Given the description of an element on the screen output the (x, y) to click on. 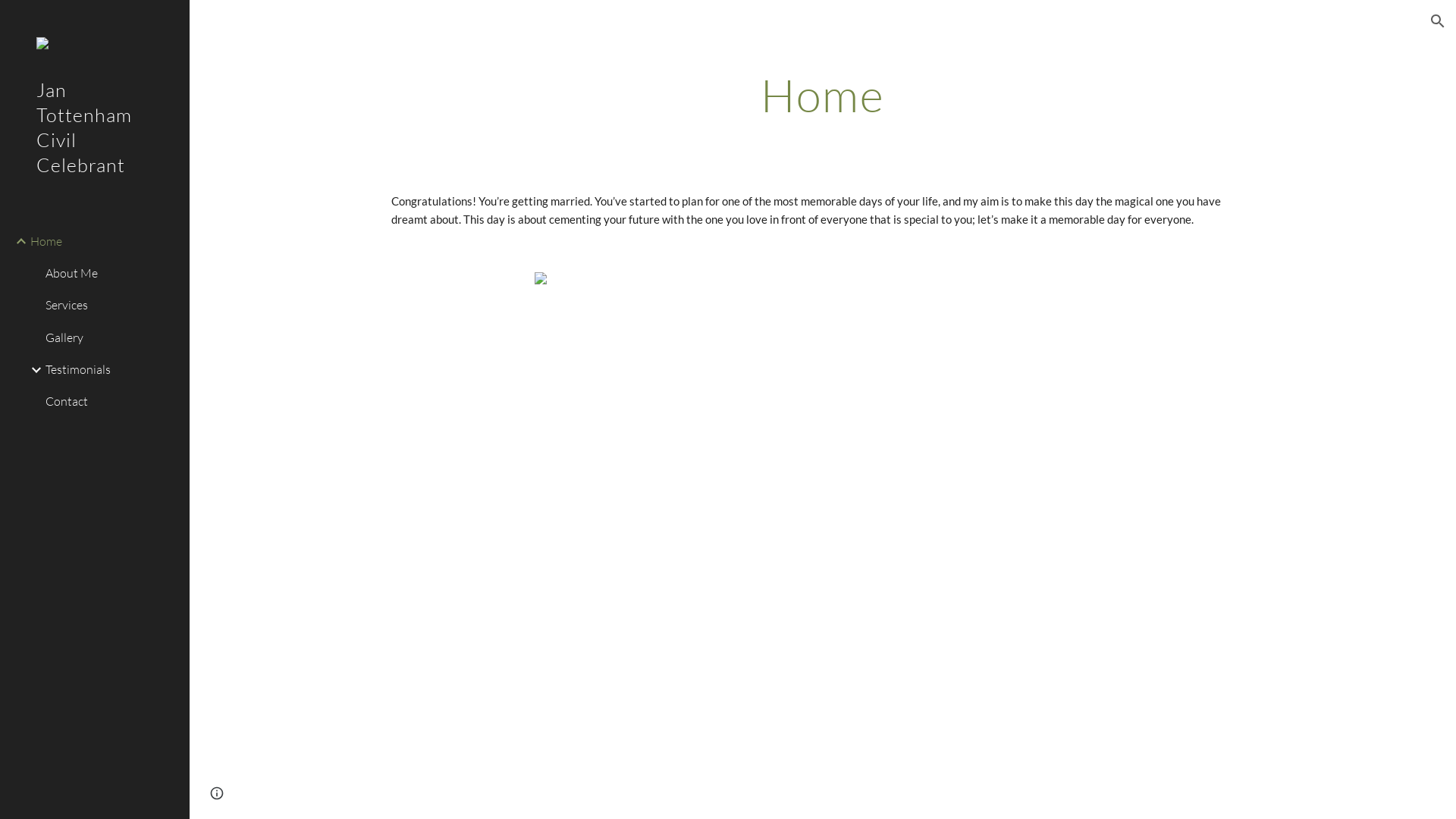
Contact Element type: text (111, 401)
Jan Tottenham Civil Celebrant Element type: text (94, 147)
About Me Element type: text (111, 273)
Home Element type: text (103, 241)
Expand/Collapse Element type: hover (31, 369)
Gallery Element type: text (111, 337)
Services Element type: text (111, 305)
Testimonials Element type: text (111, 369)
Expand/Collapse Element type: hover (16, 241)
